Given the description of an element on the screen output the (x, y) to click on. 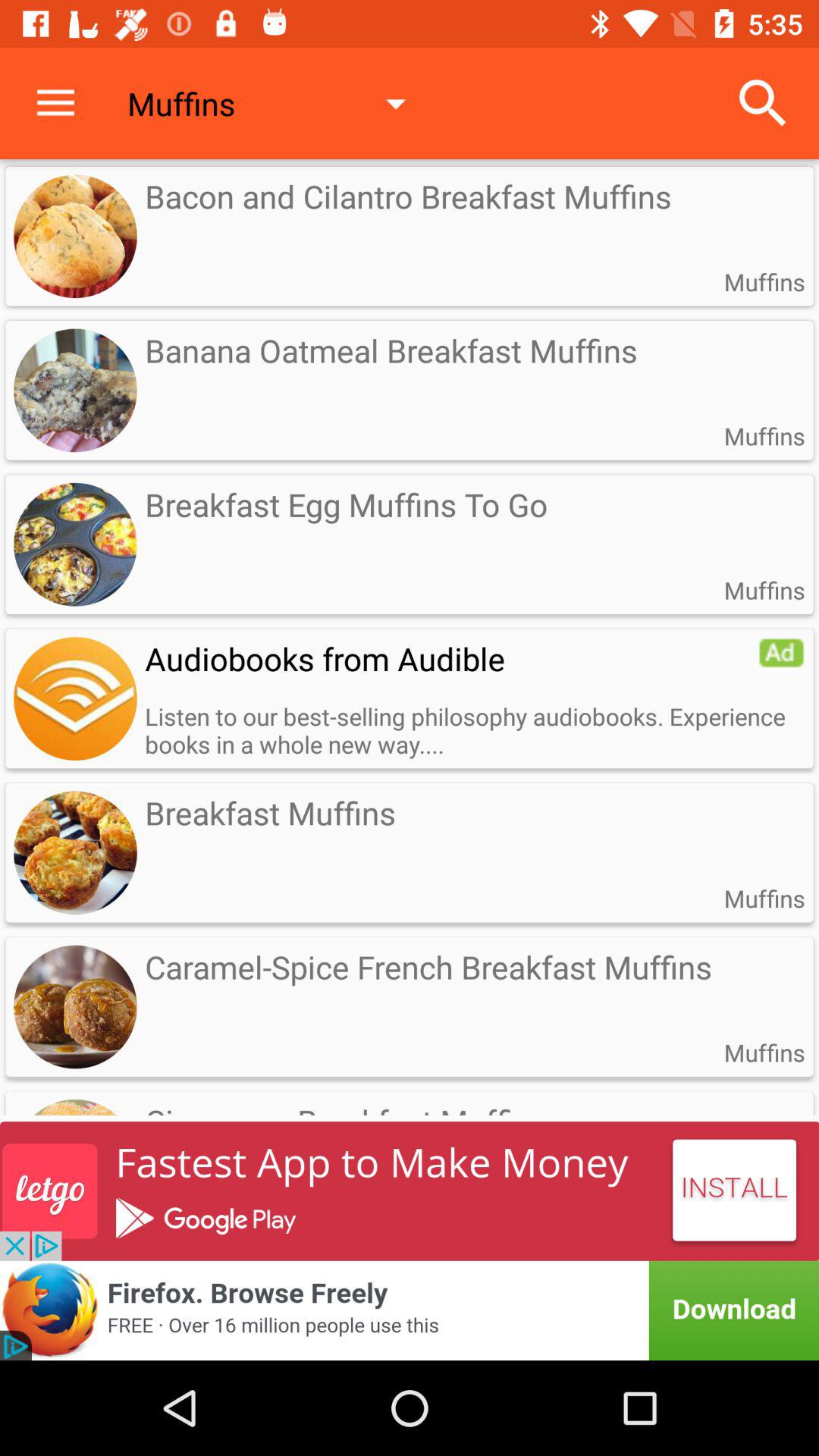
advertisement (409, 1310)
